Given the description of an element on the screen output the (x, y) to click on. 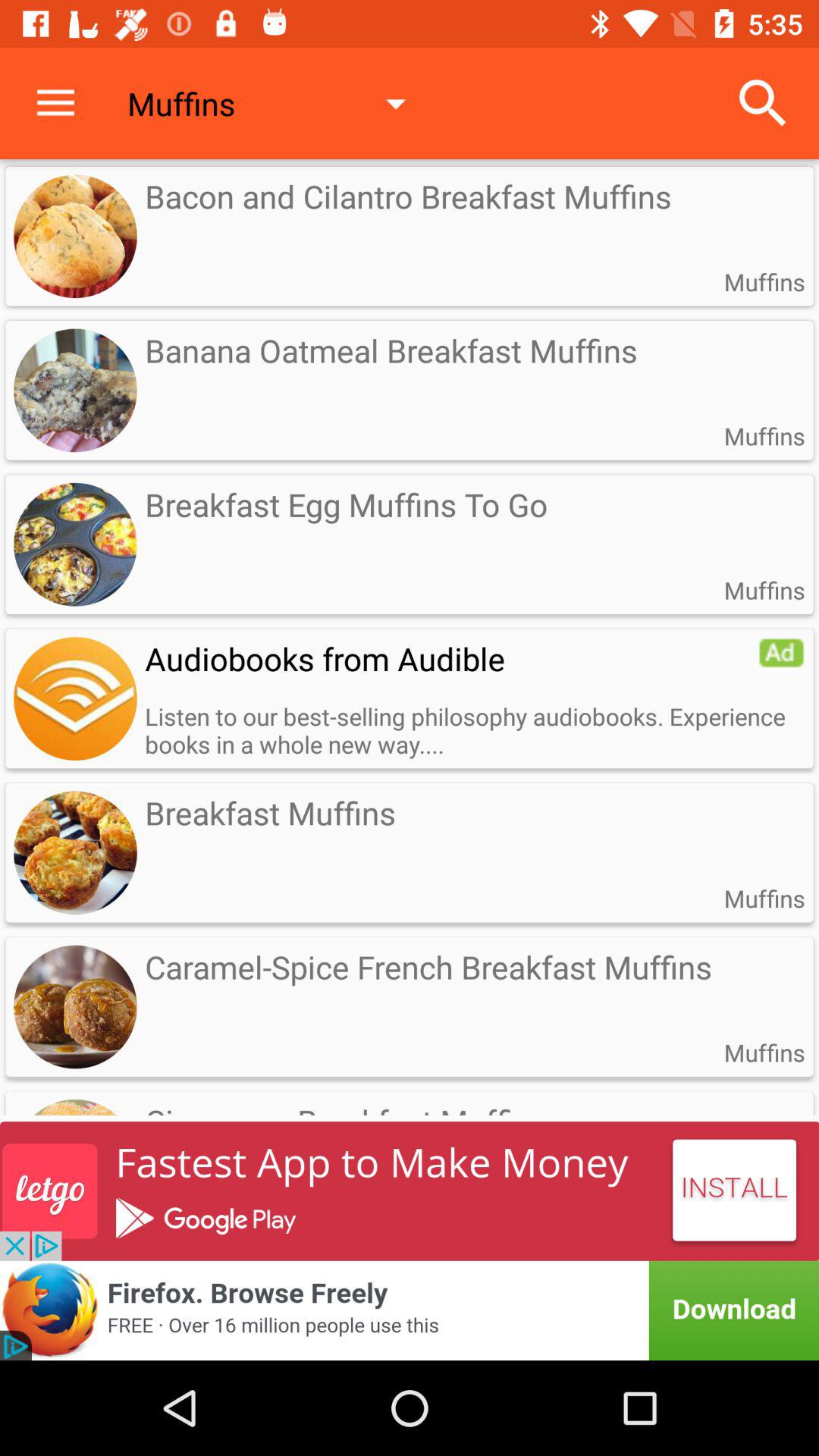
advertisement (409, 1310)
